Given the description of an element on the screen output the (x, y) to click on. 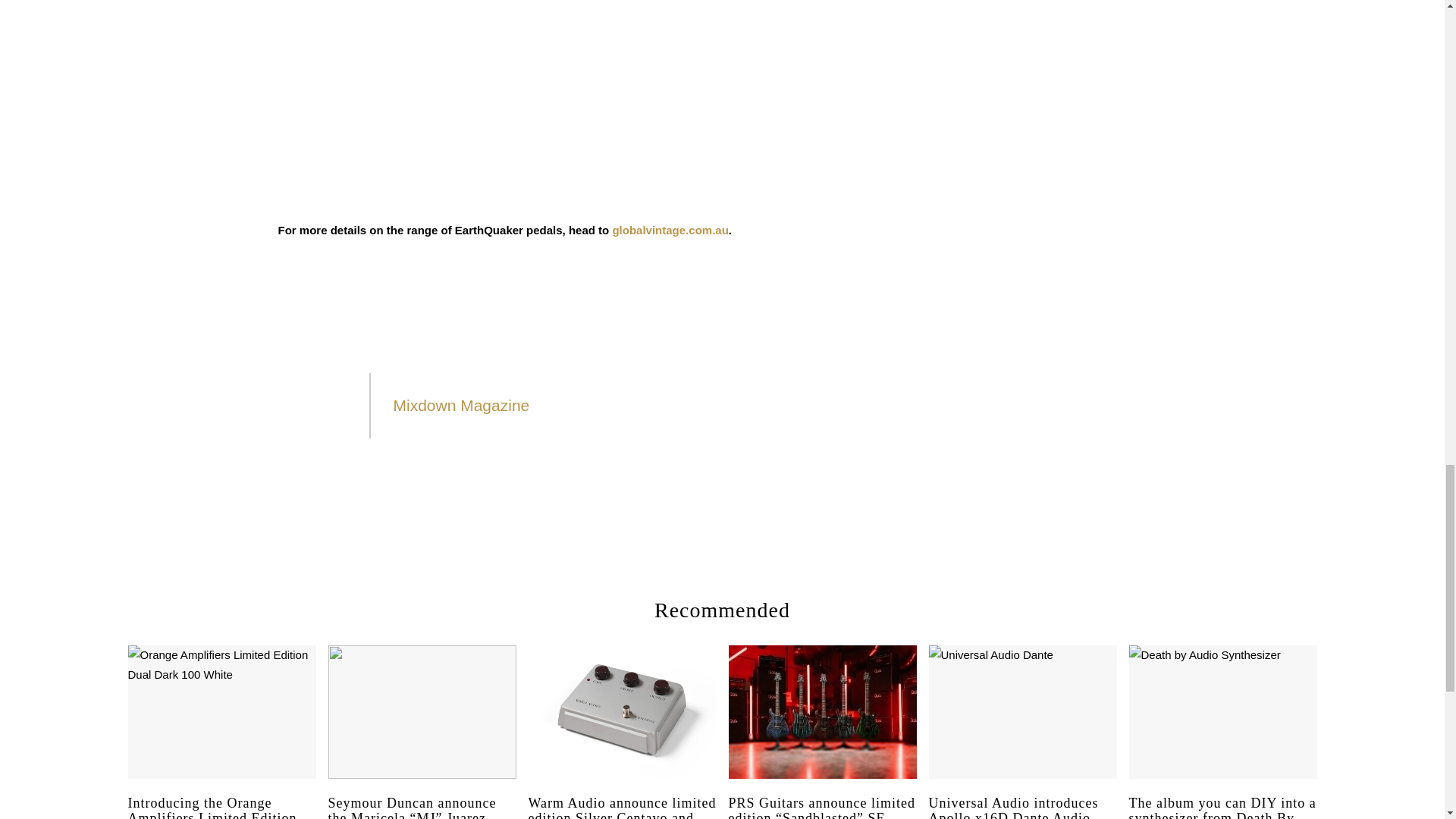
Mixdown Magazine (461, 405)
Universal Audio introduces Apollo x16D Dante Audio Interface (1022, 807)
globalvintage.com.au (669, 229)
